Given the description of an element on the screen output the (x, y) to click on. 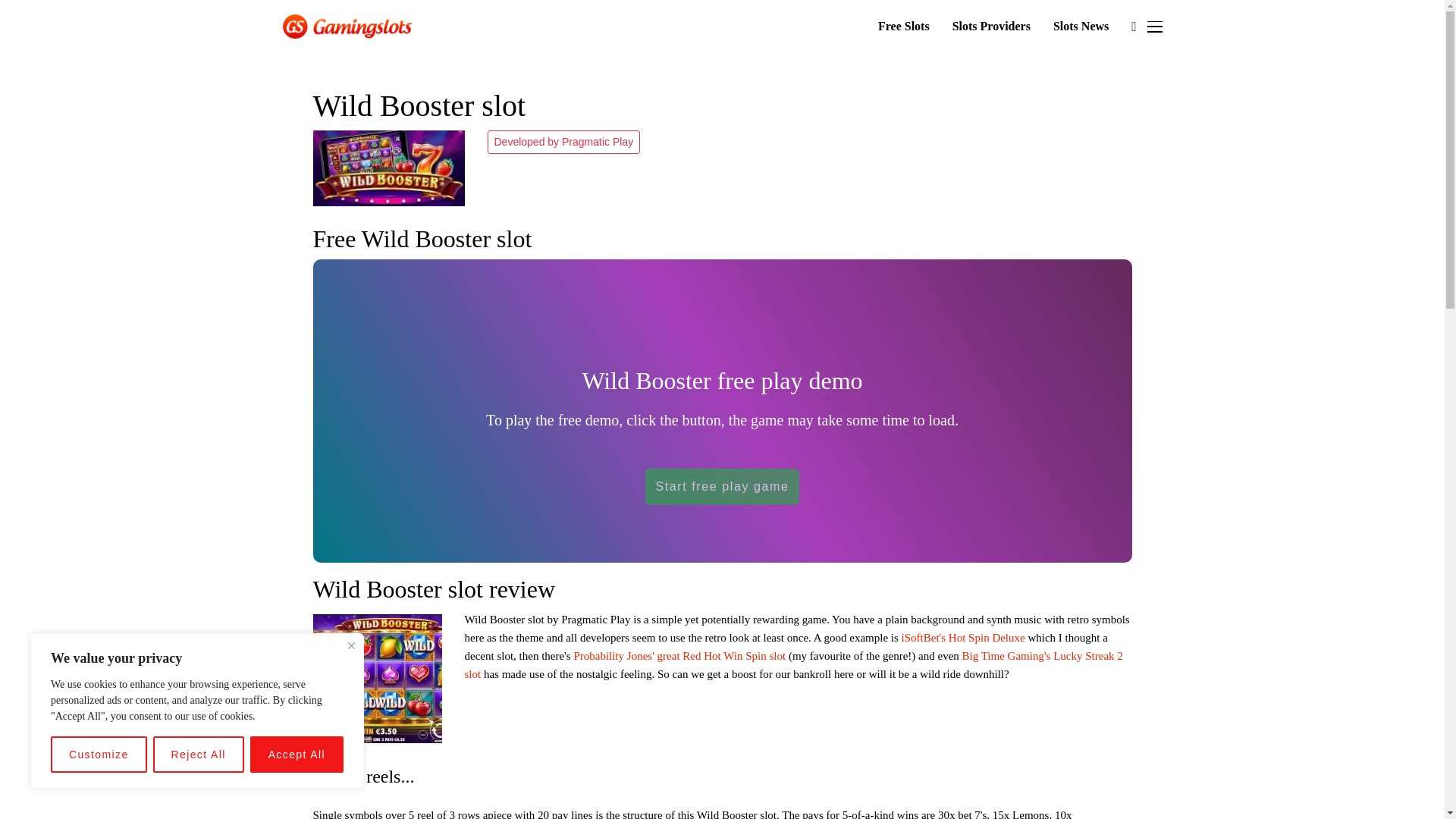
Slots News (1080, 26)
Big Time Gaming's Lucky Streak 2 slot (793, 665)
Customize (98, 754)
Slots Providers (991, 26)
Probability Jones' great Red Hot Win Spin slot (679, 655)
iSoftBet's Hot Spin Deluxe (963, 637)
Accept All (296, 754)
Reject All (198, 754)
Free Slots (903, 26)
Developed by Pragmatic Play (563, 141)
Start free play game (721, 486)
